Given the description of an element on the screen output the (x, y) to click on. 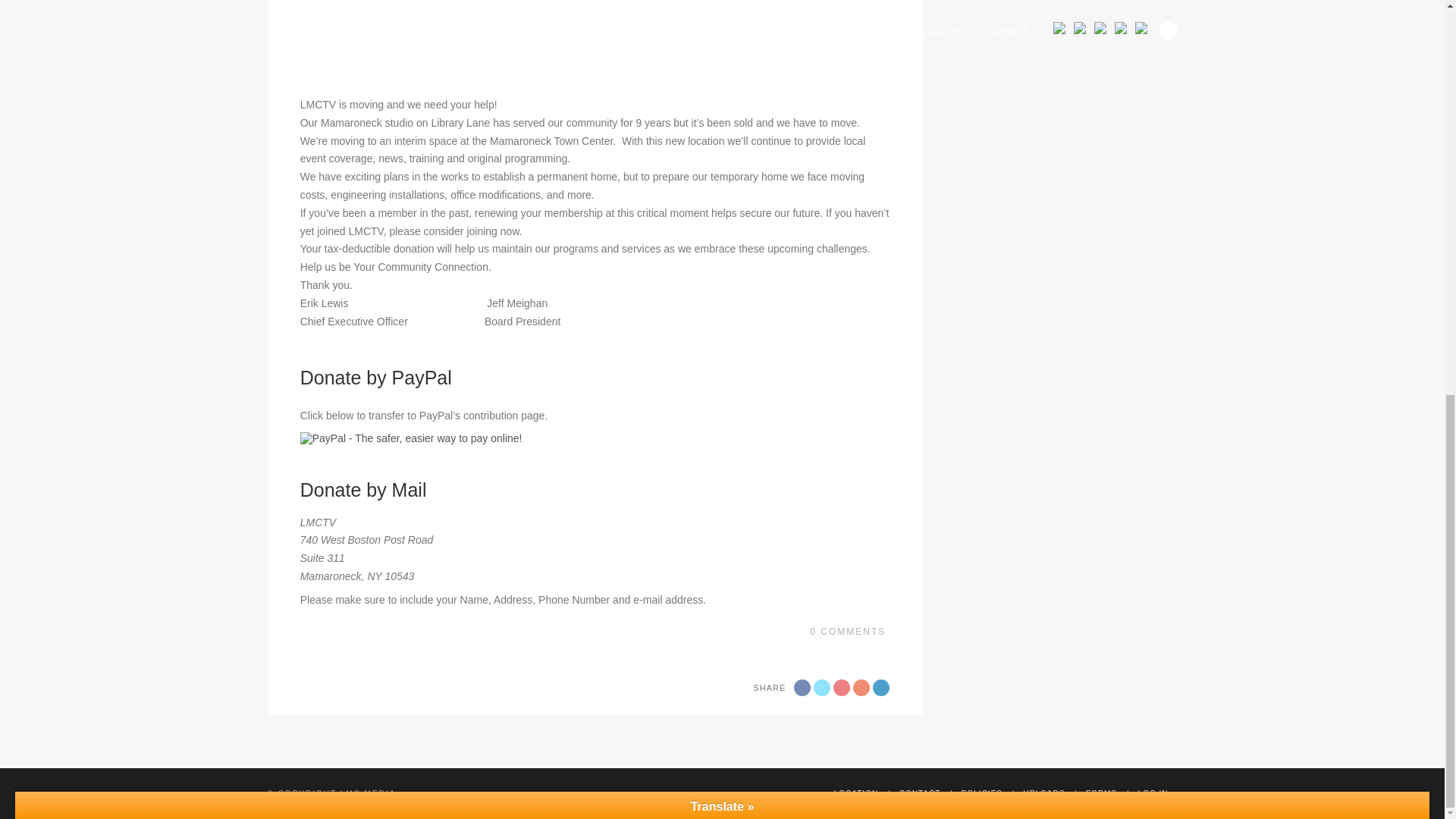
Facebook (801, 687)
LinkedIn (880, 687)
Twitter (821, 687)
Pinterest (861, 687)
